Given the description of an element on the screen output the (x, y) to click on. 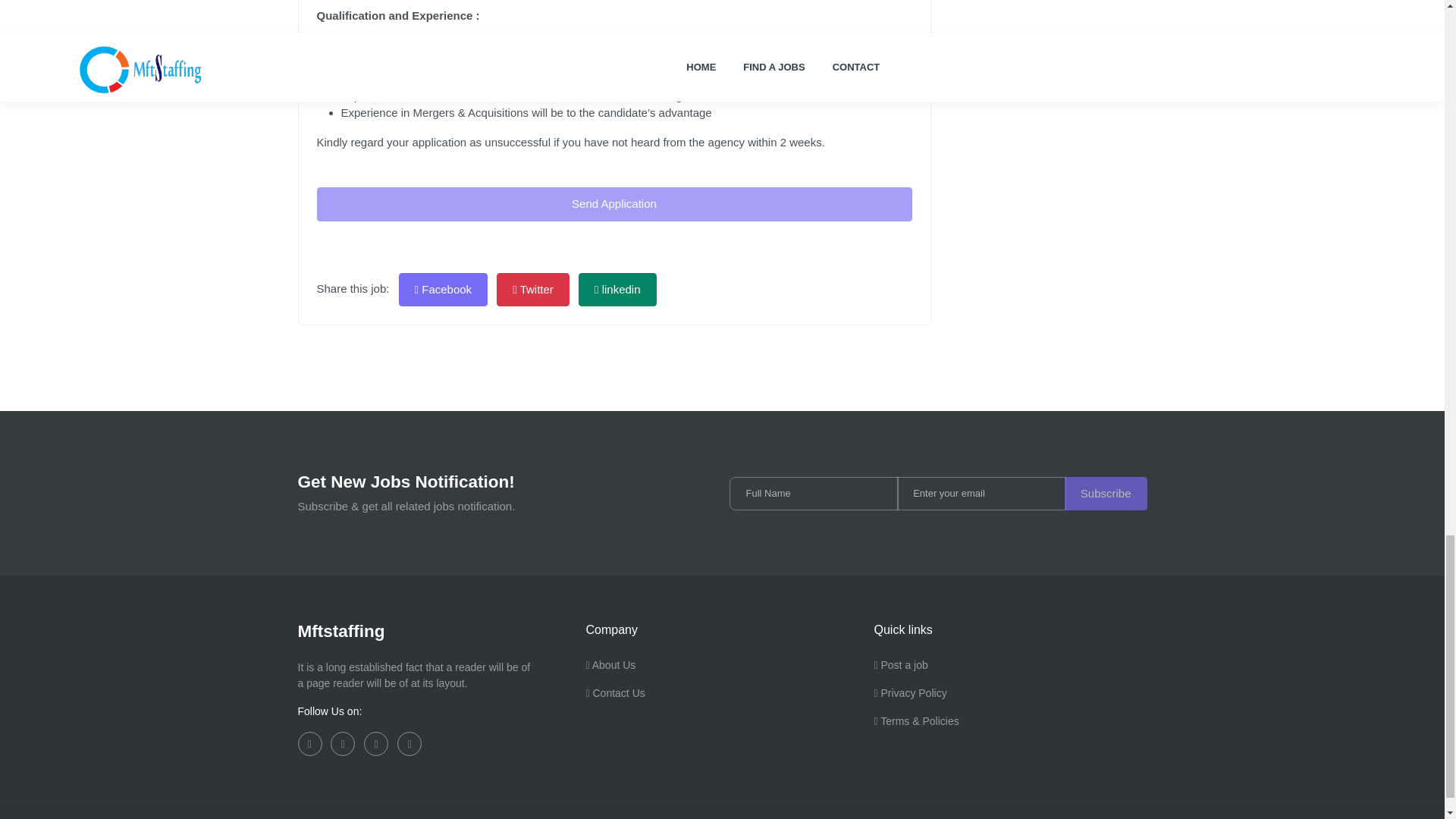
Send Application (614, 204)
Twitter (532, 289)
Subscribe (1105, 492)
About Us (609, 670)
Facebook (442, 289)
Post a job (900, 670)
Contact Us (615, 699)
linkedin (617, 289)
Privacy Policy (909, 699)
